Given the description of an element on the screen output the (x, y) to click on. 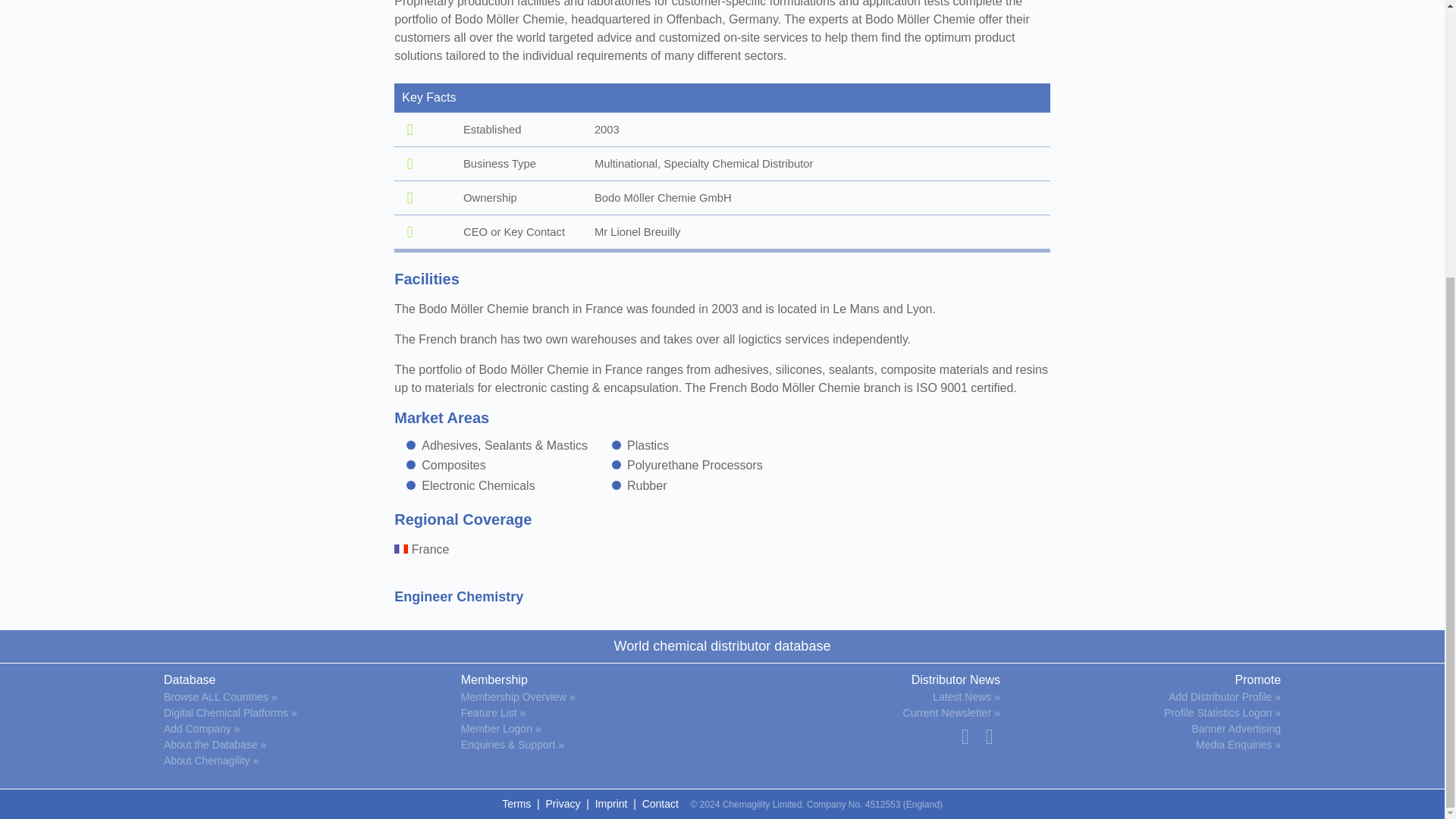
Follow Chemagility on LinkedIn (989, 736)
Follow Chemagility on Twitter (965, 736)
